Given the description of an element on the screen output the (x, y) to click on. 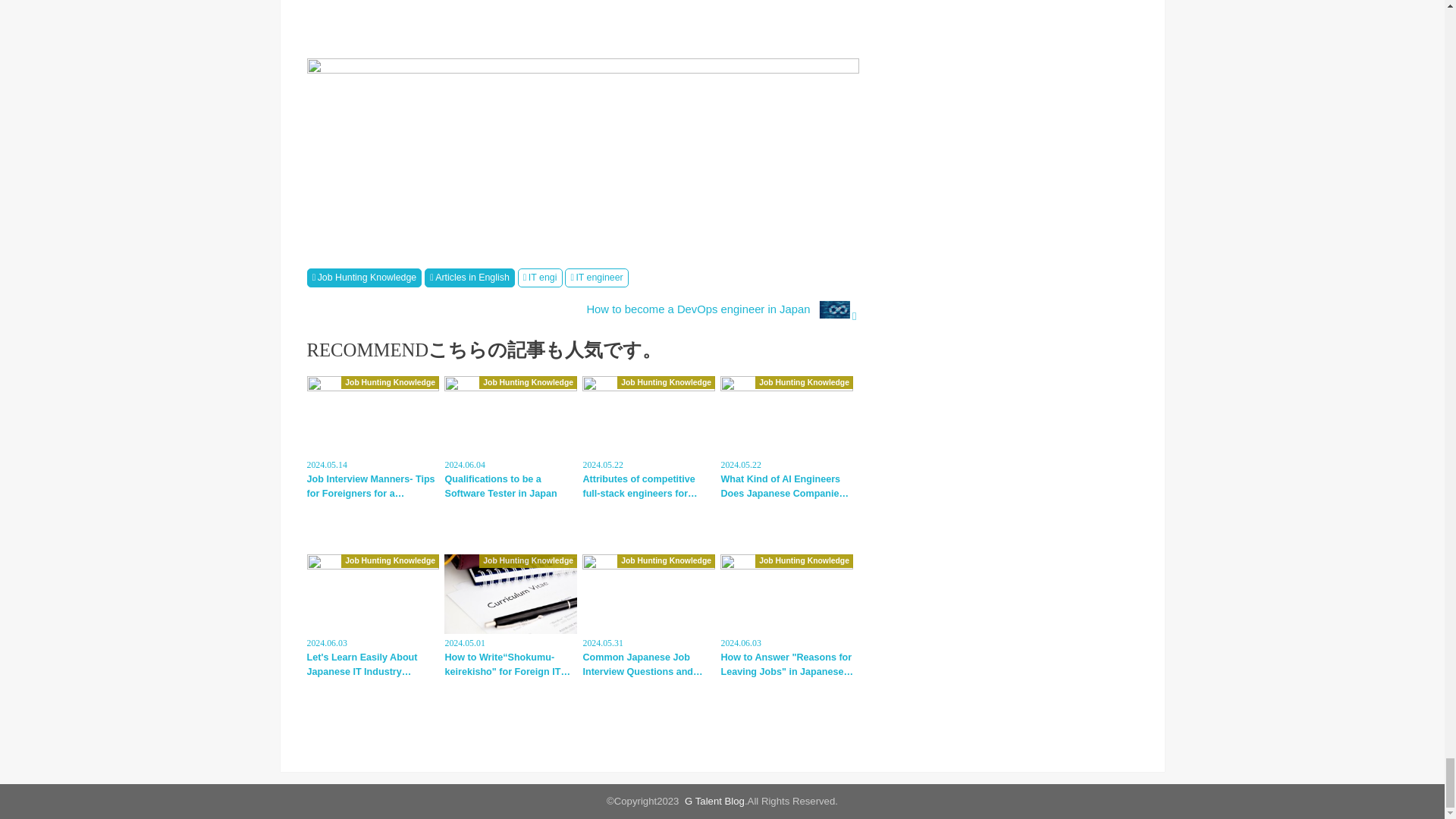
What Kind of AI Engineers Does Japanese Companies Want? (786, 438)
Qualifications to be a Software Tester in Japan (510, 438)
Common Japanese Job Interview Questions and Best Answers! (648, 616)
Let's Learn Easily About Japanese IT Industry Structure! (372, 616)
